Given the description of an element on the screen output the (x, y) to click on. 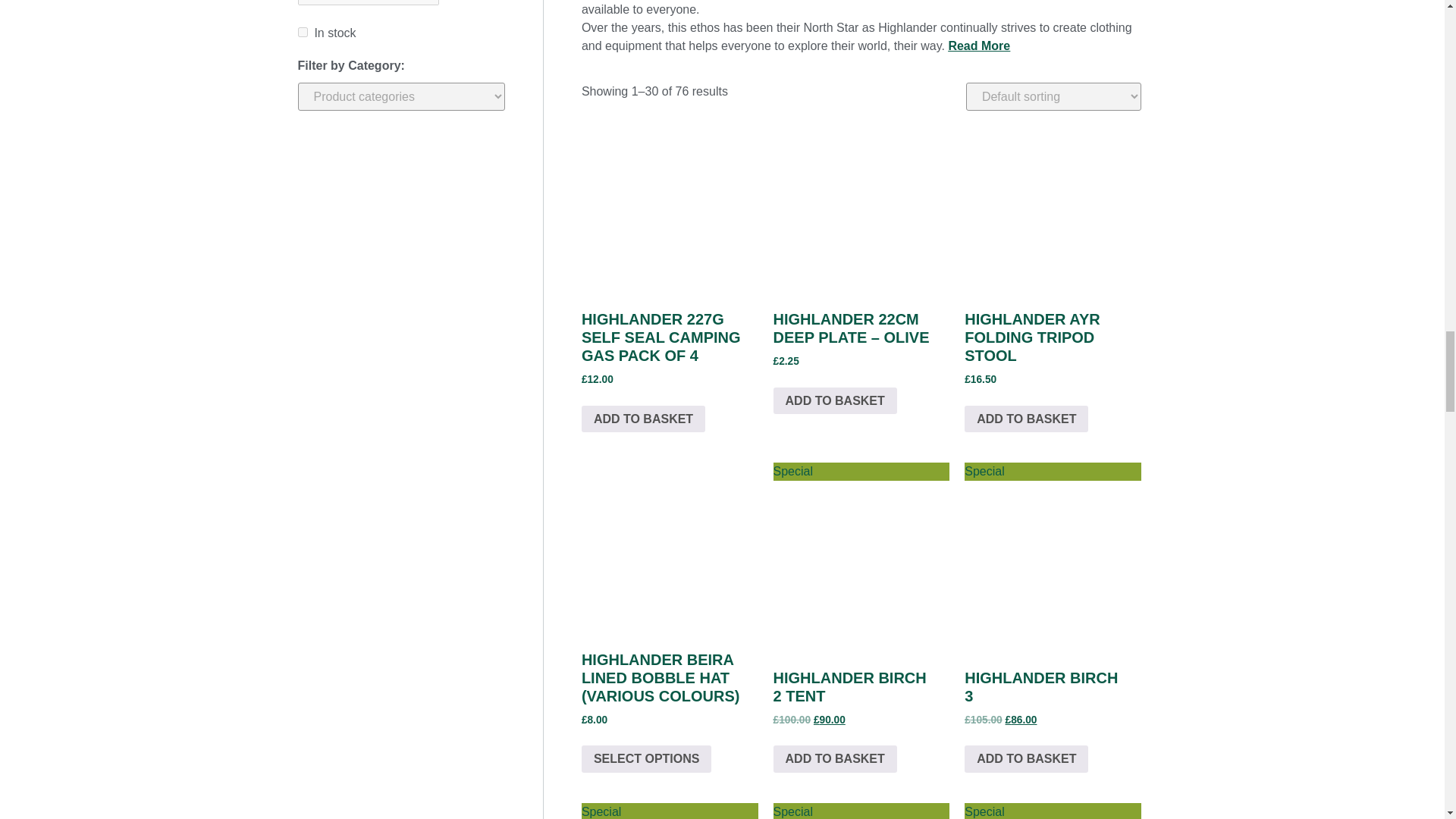
0 (302, 31)
